Given the description of an element on the screen output the (x, y) to click on. 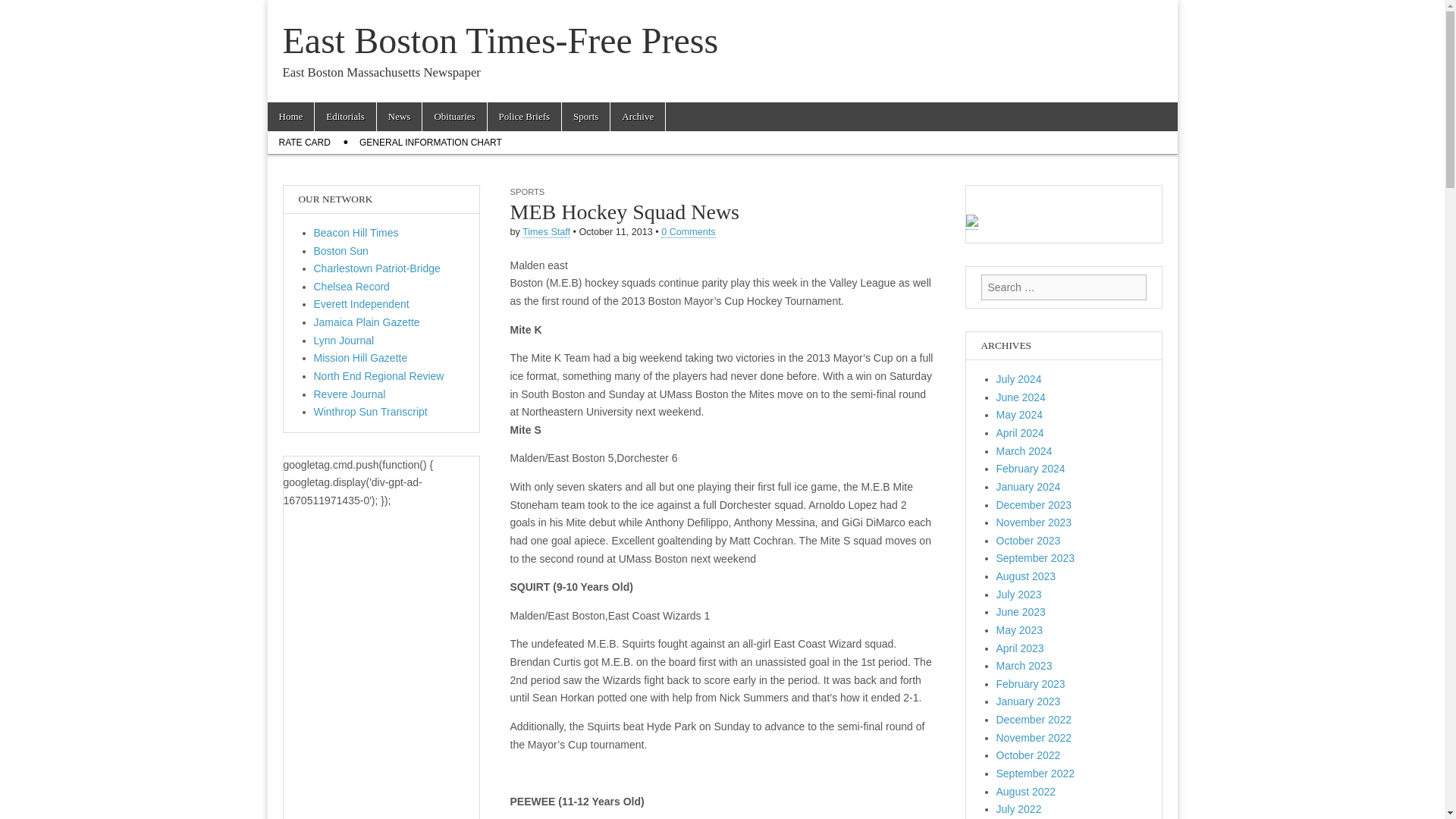
GENERAL INFORMATION CHART (430, 142)
North End Regional Review (379, 376)
Charlestown Patriot-Bridge (377, 268)
0 Comments (687, 232)
Obituaries (454, 116)
East Boston Times-Free Press (499, 40)
Times Staff (546, 232)
Home (290, 116)
Boston Sun (341, 250)
Posts by Times Staff (546, 232)
Chelsea Record (352, 286)
Winthrop Sun Transcript (371, 411)
Police Briefs (524, 116)
Sports (586, 116)
